Given the description of an element on the screen output the (x, y) to click on. 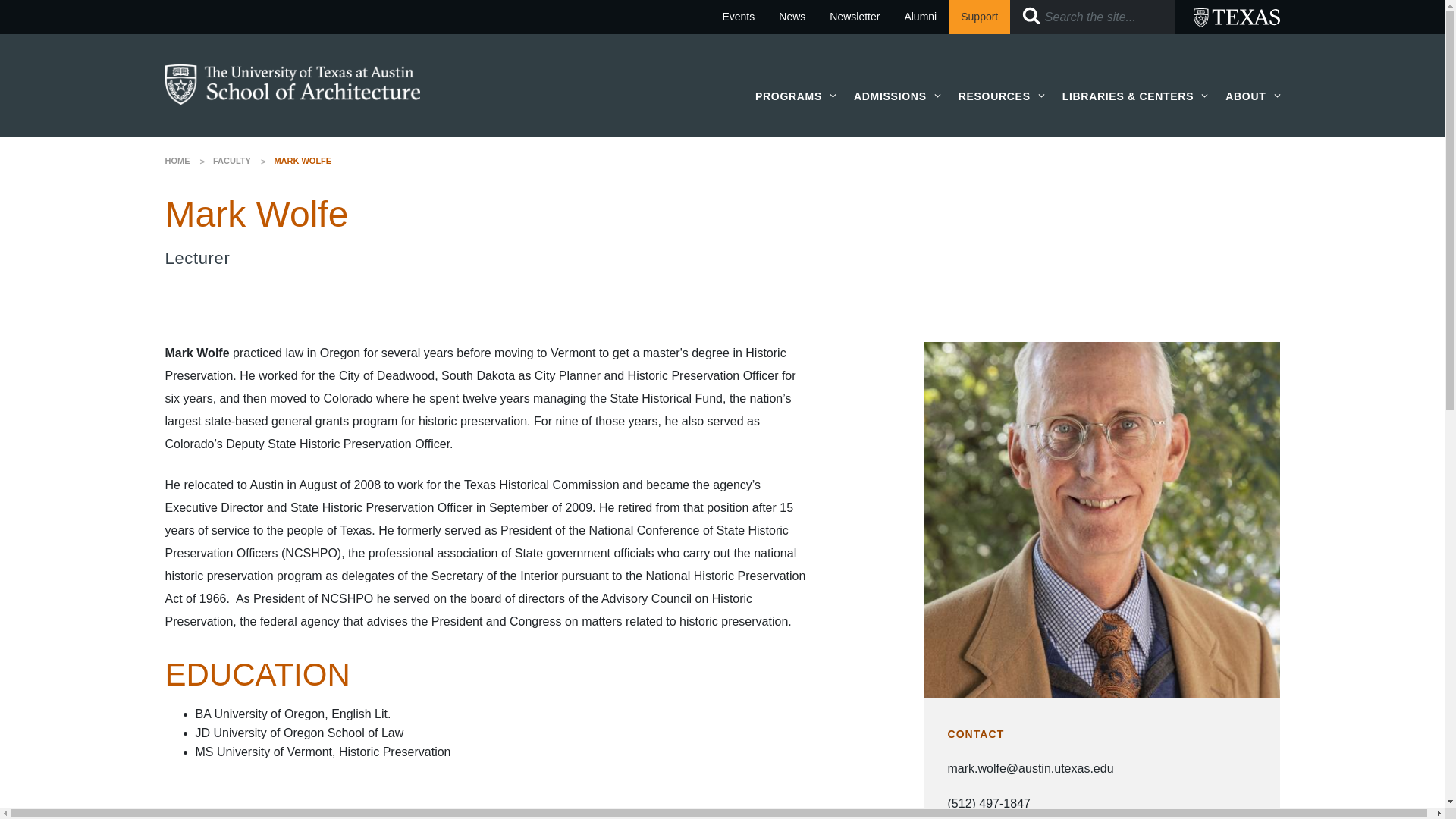
News (791, 17)
Enter the terms you wish to search for. (1092, 16)
Search (1031, 15)
Search (1031, 15)
Newsletter (853, 17)
Support (979, 17)
Alumni (920, 17)
Home (292, 83)
Events (738, 17)
